Given the description of an element on the screen output the (x, y) to click on. 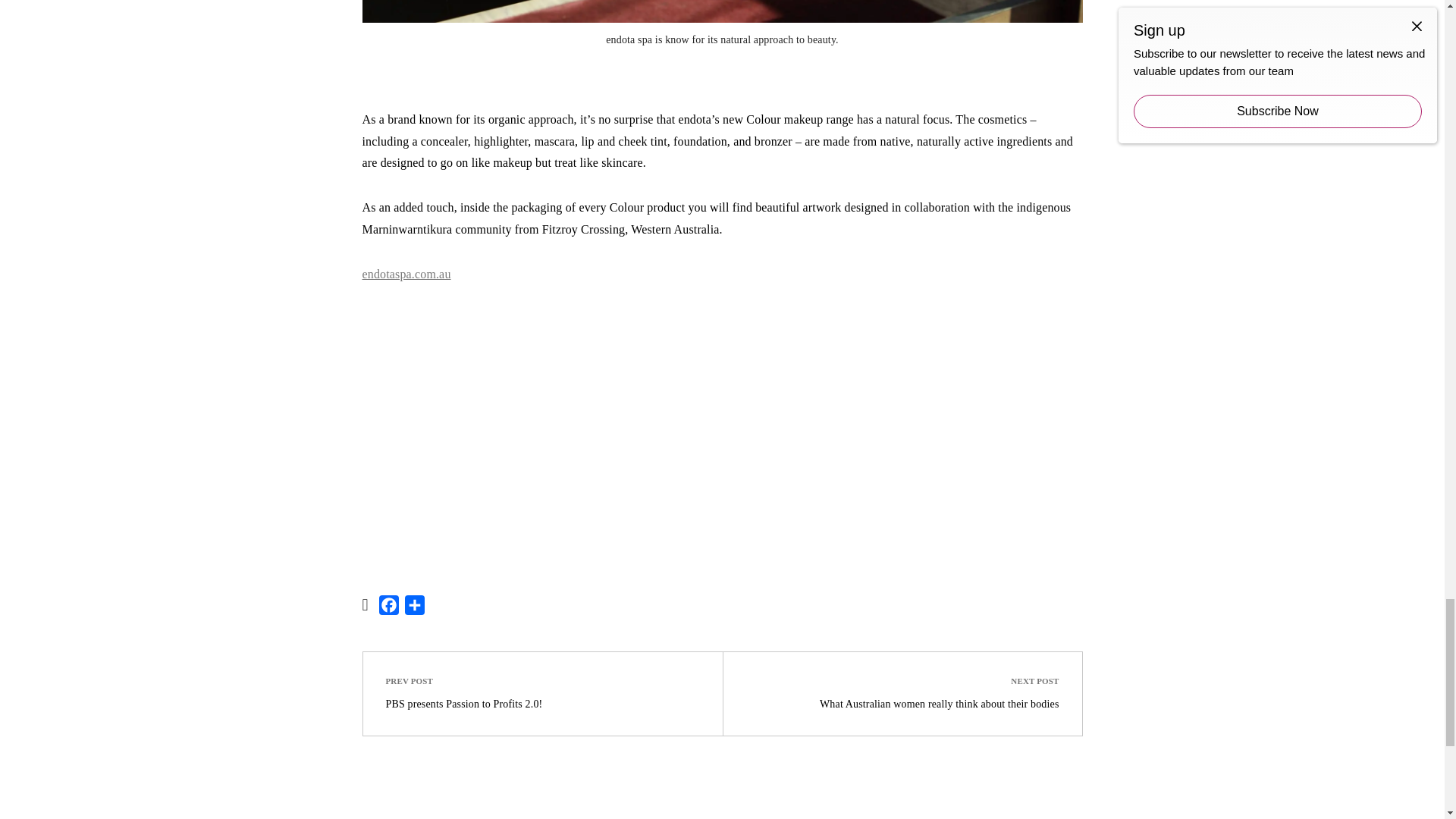
3rd party ad content (721, 447)
Facebook (388, 607)
